Given the description of an element on the screen output the (x, y) to click on. 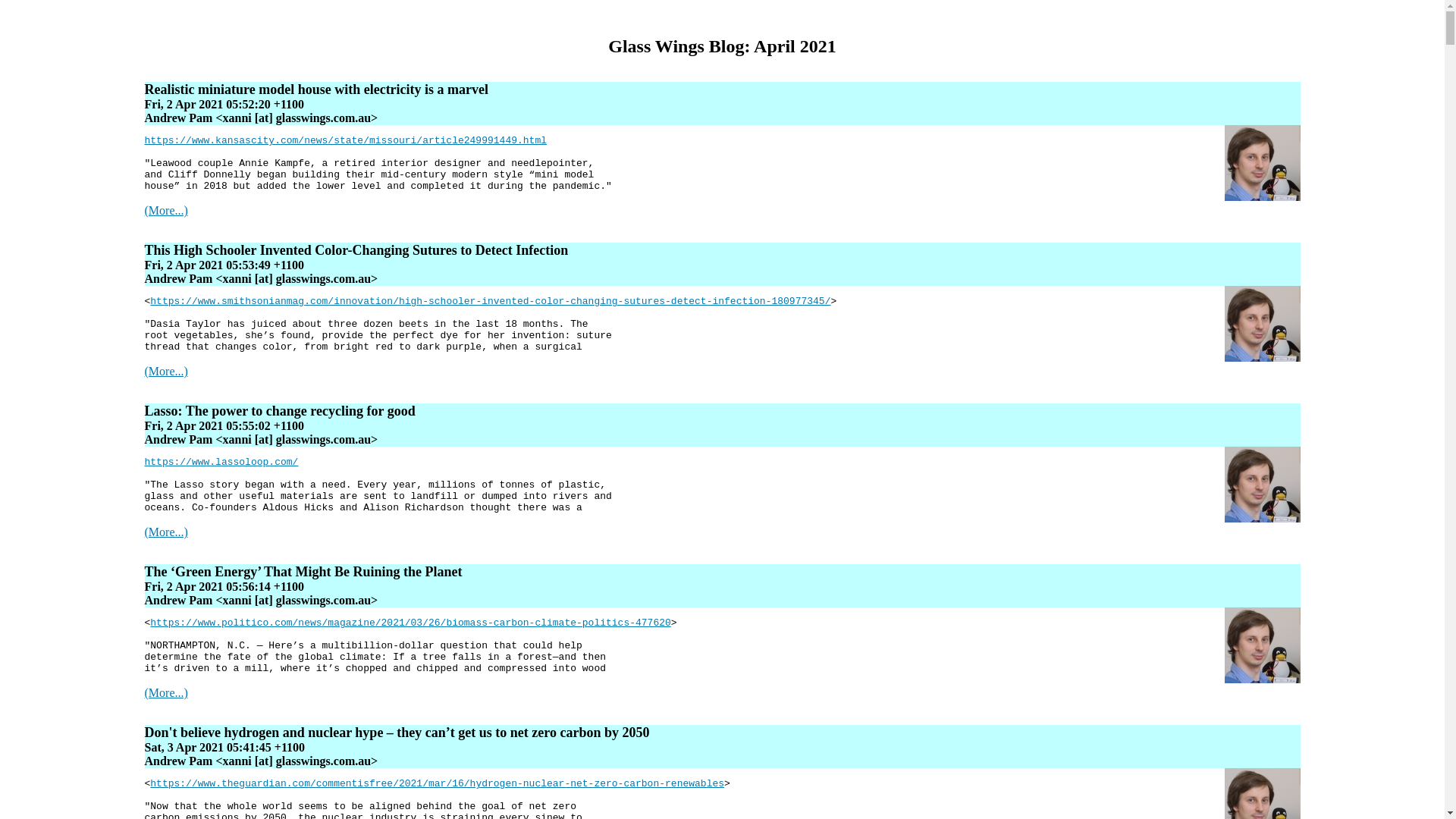
(More...) Element type: text (165, 692)
https://www.lassoloop.com/ Element type: text (221, 461)
(More...) Element type: text (165, 531)
(More...) Element type: text (165, 370)
(More...) Element type: text (165, 209)
